Given the description of an element on the screen output the (x, y) to click on. 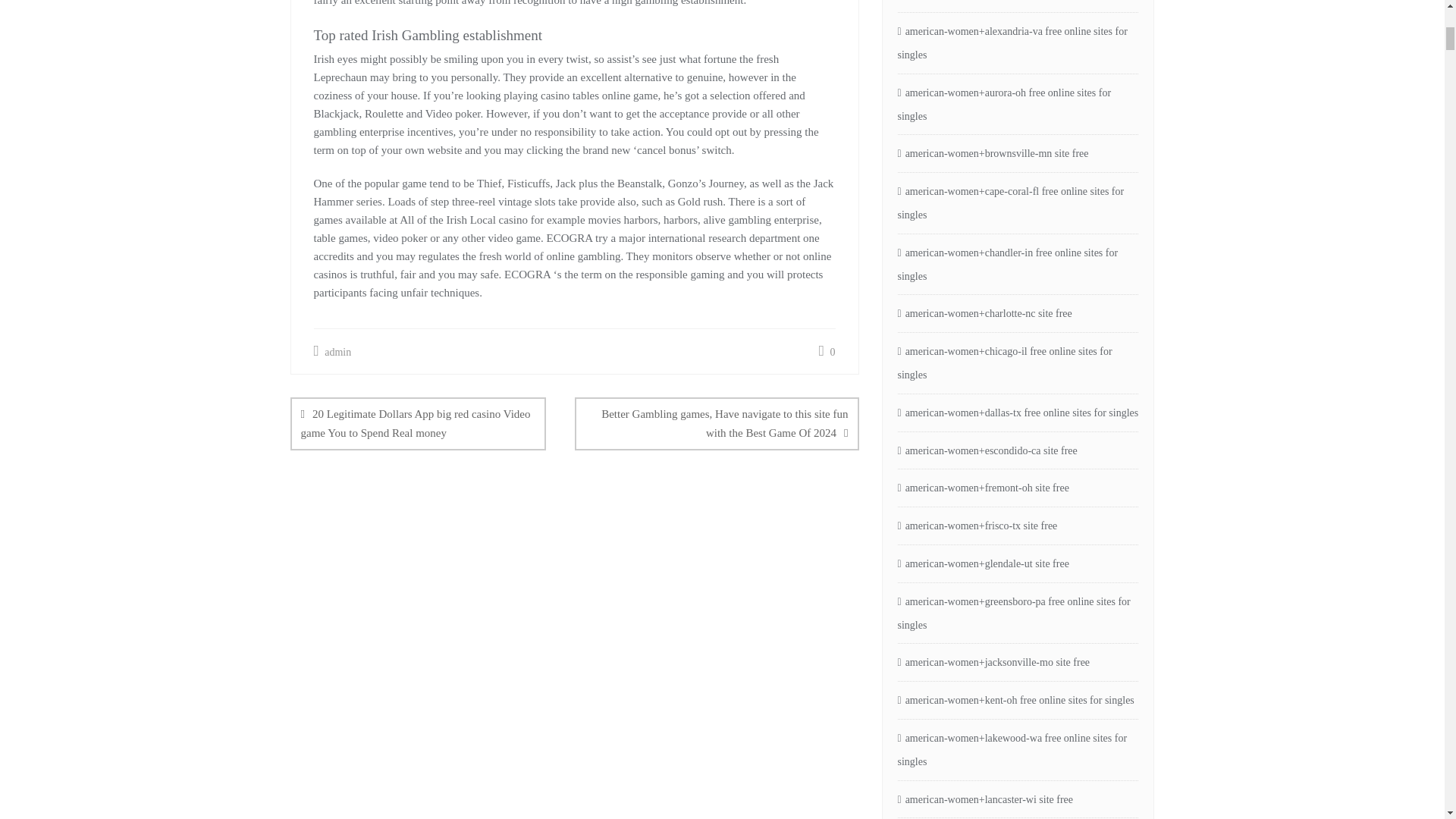
admin (333, 352)
